Given the description of an element on the screen output the (x, y) to click on. 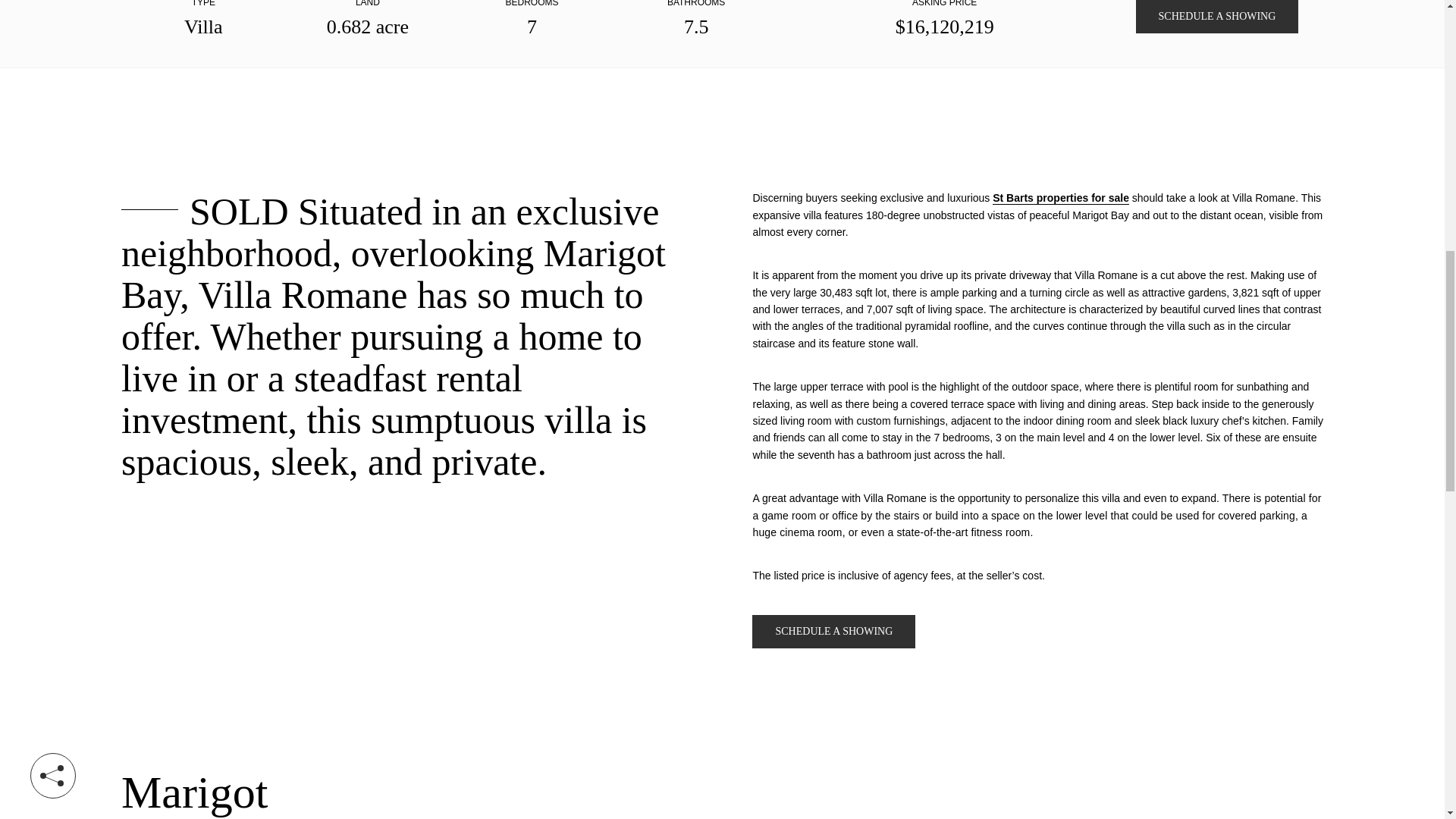
SCHEDULE A SHOWING (833, 631)
St Barts properties for sale (1060, 197)
SCHEDULE A SHOWING (1216, 16)
